Given the description of an element on the screen output the (x, y) to click on. 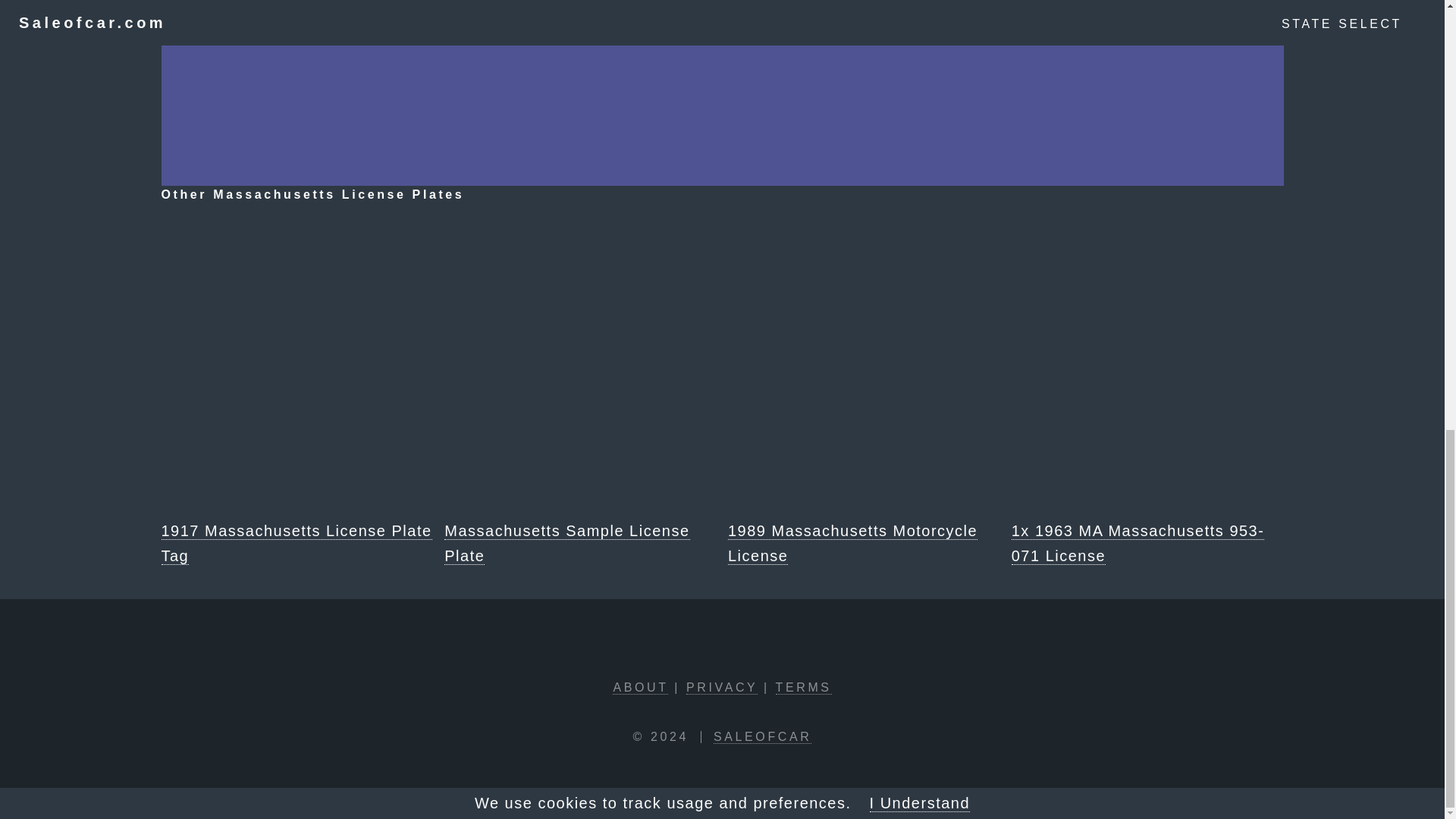
PRIVACY (721, 687)
ABOUT (640, 687)
TERMS (803, 687)
SALEOFCAR (761, 736)
